Given the description of an element on the screen output the (x, y) to click on. 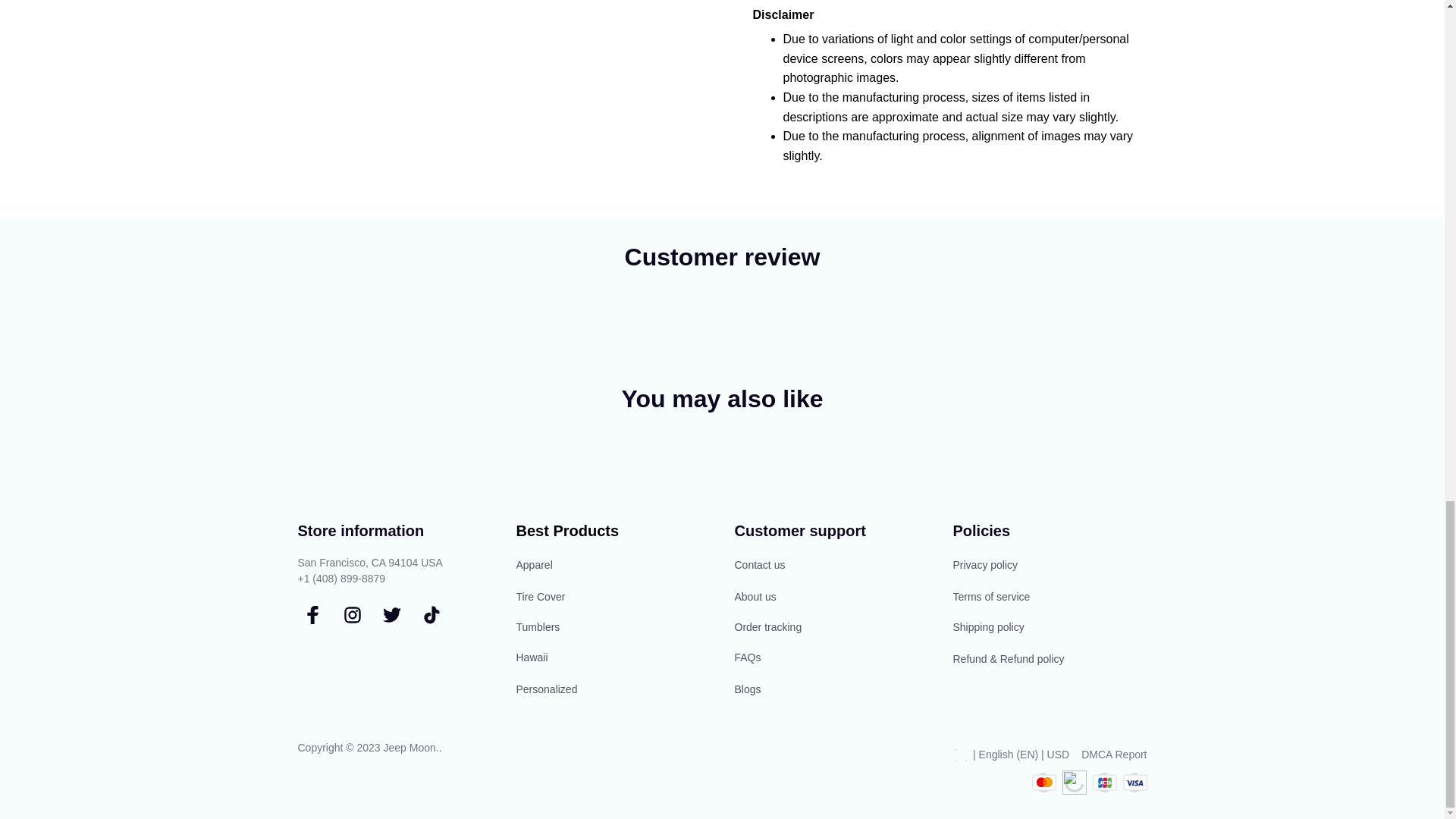
FAQs (830, 657)
Contact us (830, 567)
About us (830, 597)
DMCA Report (1114, 754)
Apparel (612, 567)
Terms of service (1049, 597)
Privacy policy (1049, 567)
Tumblers (612, 627)
Order tracking (830, 627)
Blogs (830, 688)
Hawaii (612, 657)
Shipping policy (1049, 627)
Personalized (612, 688)
Tire Cover (612, 597)
